Given the description of an element on the screen output the (x, y) to click on. 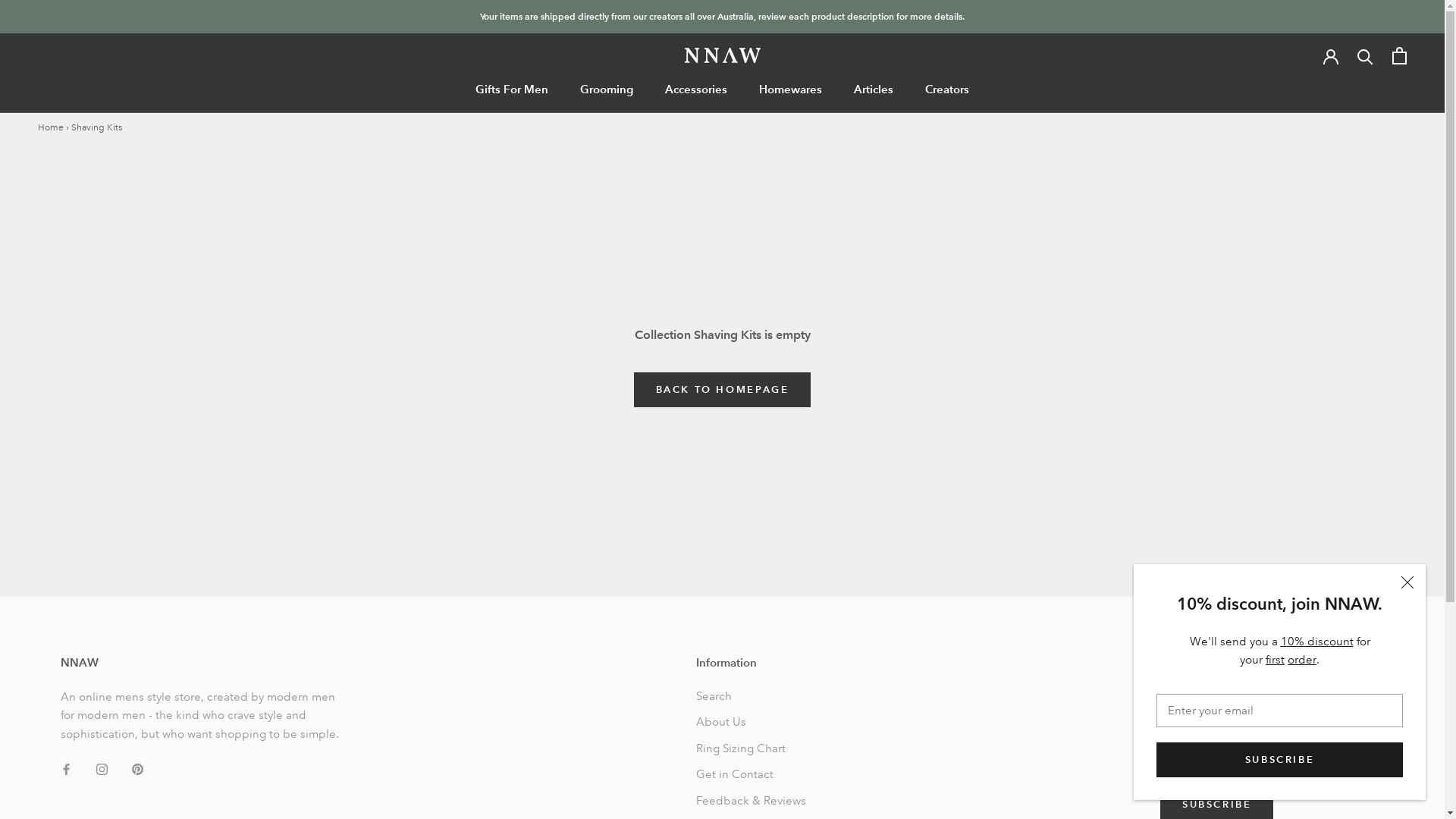
SUBSCRIBE Element type: text (1279, 759)
Search Element type: text (754, 696)
Gifts For Men Element type: text (511, 88)
BACK TO HOMEPAGE Element type: text (722, 389)
About Us Element type: text (754, 722)
Grooming
Grooming Element type: text (606, 88)
Articles
Articles Element type: text (873, 88)
Ring Sizing Chart Element type: text (754, 748)
Accessories
Accessories Element type: text (696, 88)
Homewares
Homewares Element type: text (790, 88)
Creators Element type: text (947, 88)
Get in Contact Element type: text (754, 774)
Feedback & Reviews Element type: text (754, 800)
Home Element type: text (50, 127)
